Given the description of an element on the screen output the (x, y) to click on. 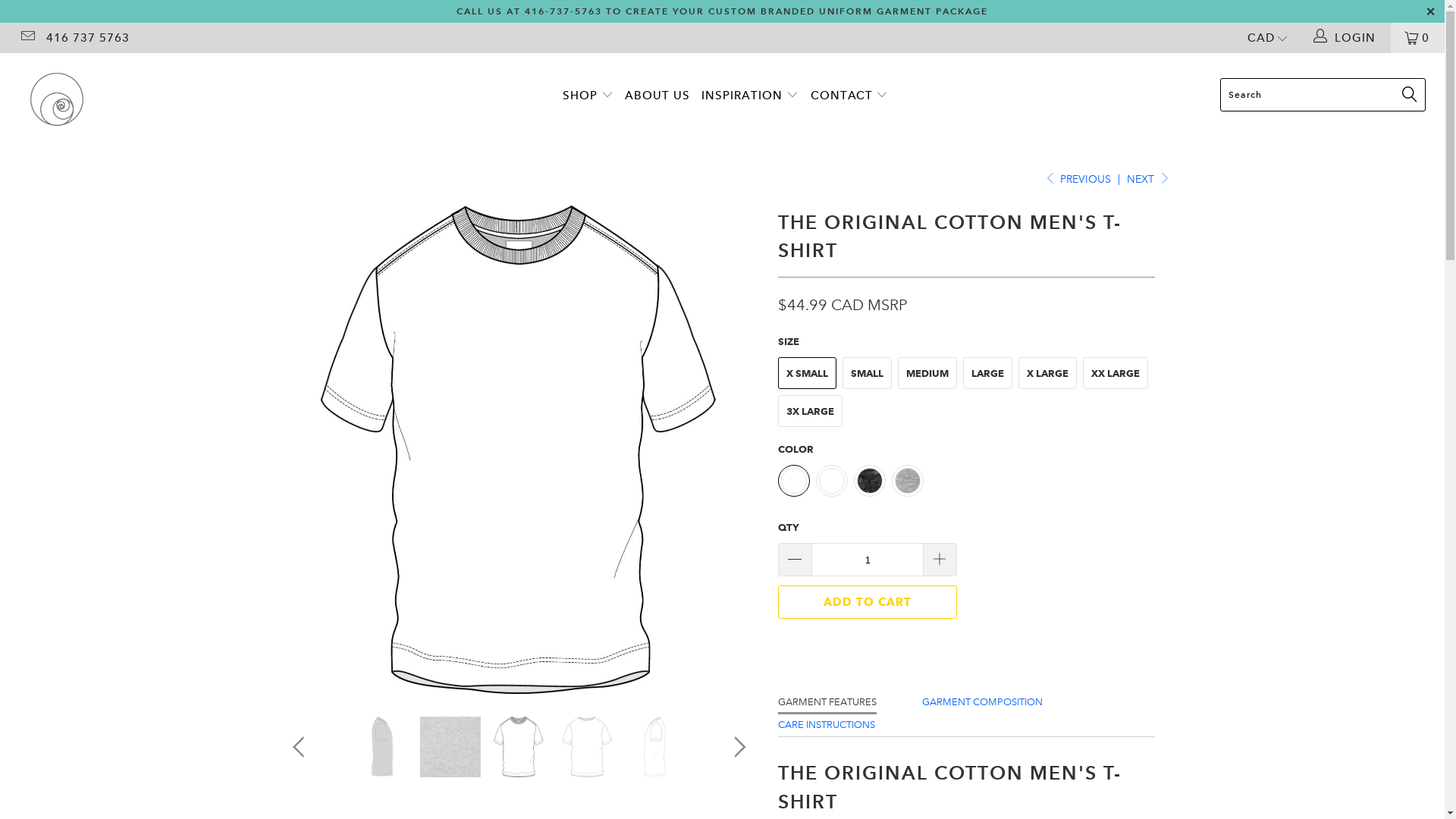
416 737 5763 Element type: text (87, 37)
CARE INSTRUCTIONS Element type: text (826, 724)
SHOP Element type: text (587, 95)
APIUM APPAREL Element type: hover (123, 99)
NEXT Element type: text (1147, 178)
0 Element type: text (1417, 37)
CONTACT Element type: text (849, 95)
ABOUT US Element type: text (657, 95)
PREVIOUS Element type: text (1077, 178)
ADD TO CART Element type: text (867, 601)
GARMENT FEATURES Element type: text (827, 702)
LOGIN Element type: text (1345, 37)
INSPIRATION Element type: text (749, 95)
GARMENT COMPOSITION Element type: text (982, 701)
Email APIUM APPAREL Element type: hover (26, 37)
